Given the description of an element on the screen output the (x, y) to click on. 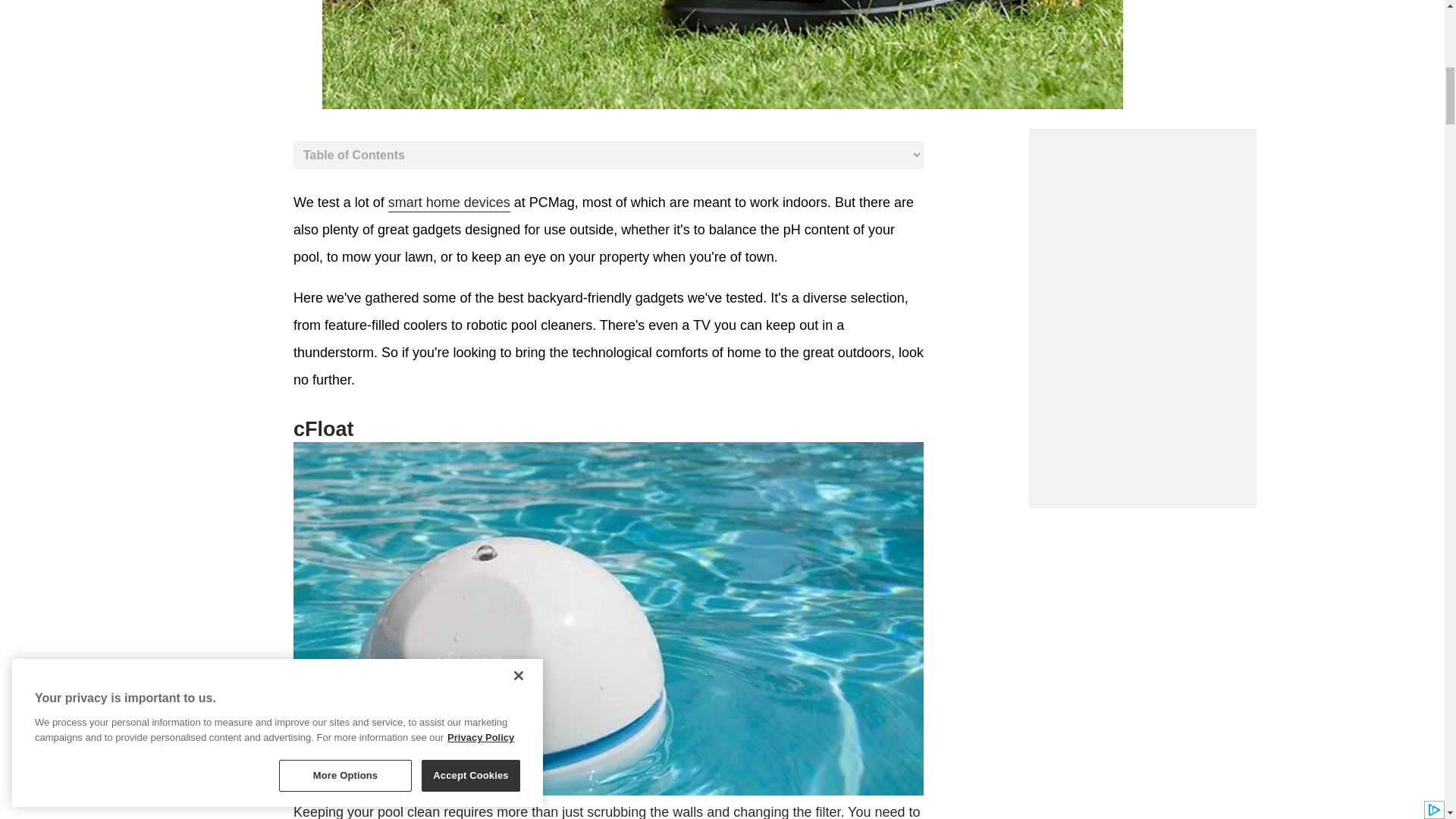
Buy It Now (607, 811)
